Given the description of an element on the screen output the (x, y) to click on. 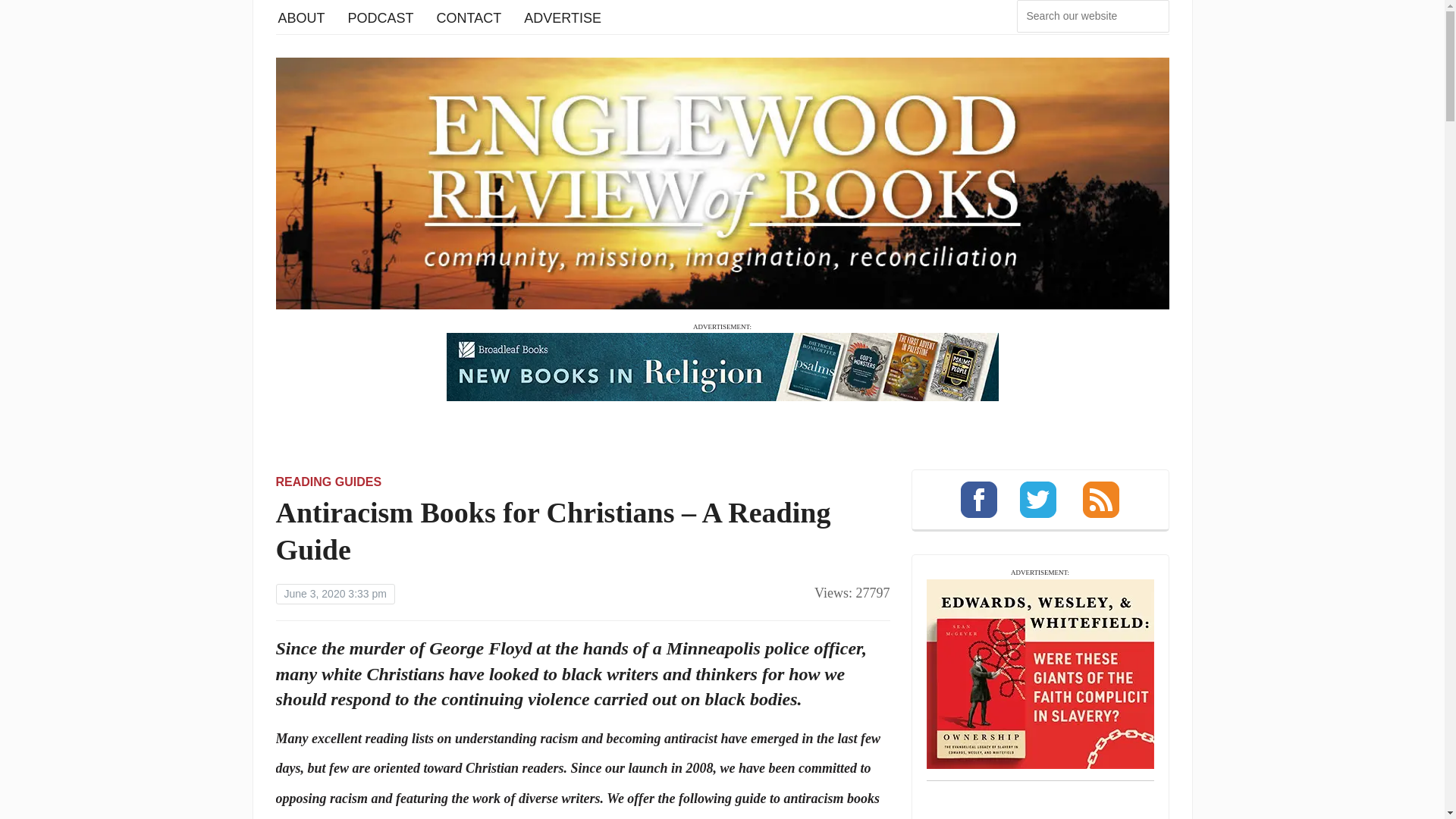
ADVERTISE (562, 17)
PODCAST (380, 17)
ABOUT (301, 17)
CONTACT (469, 17)
READING GUIDES (328, 481)
